Given the description of an element on the screen output the (x, y) to click on. 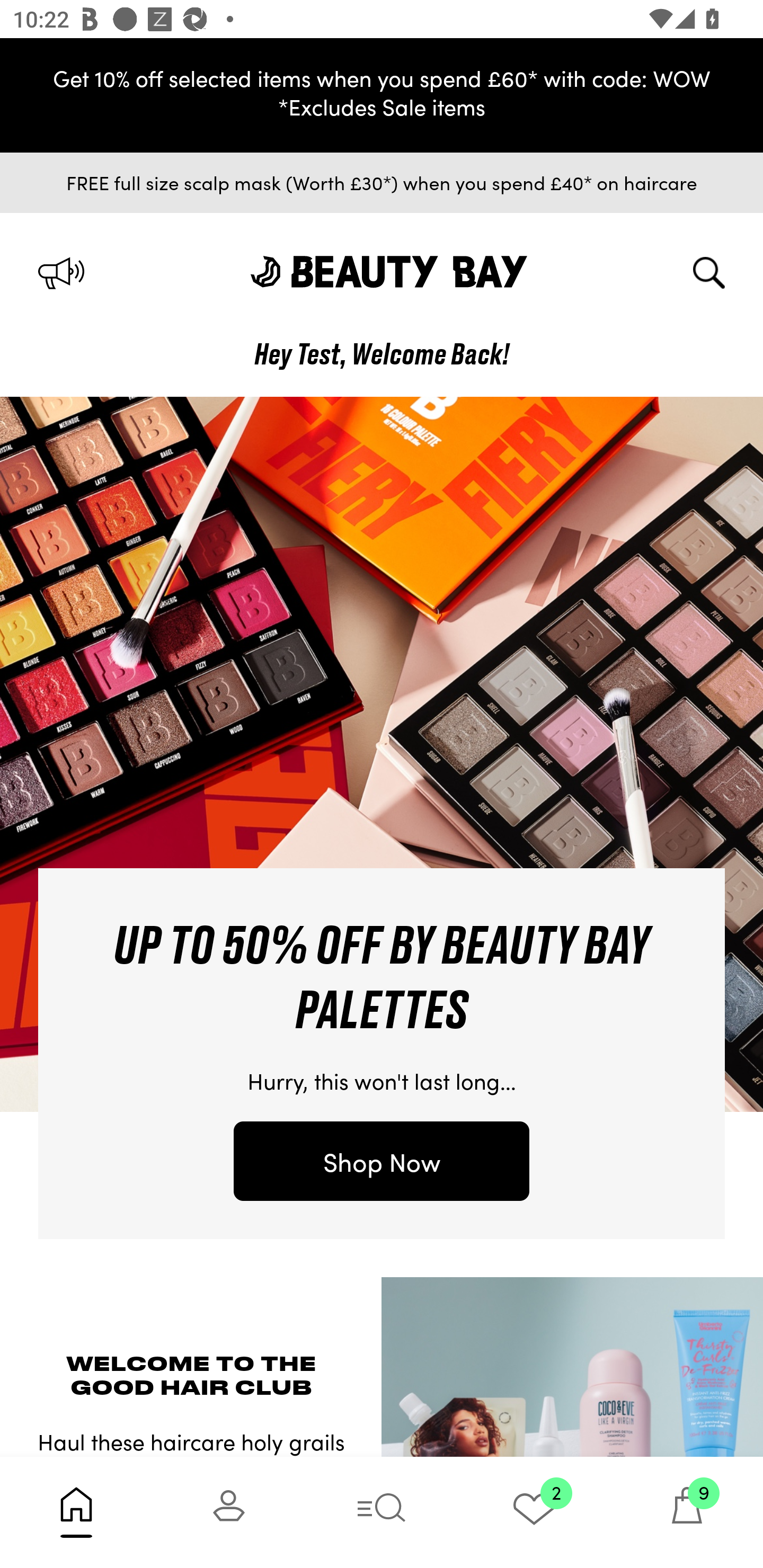
2 (533, 1512)
9 (686, 1512)
